Given the description of an element on the screen output the (x, y) to click on. 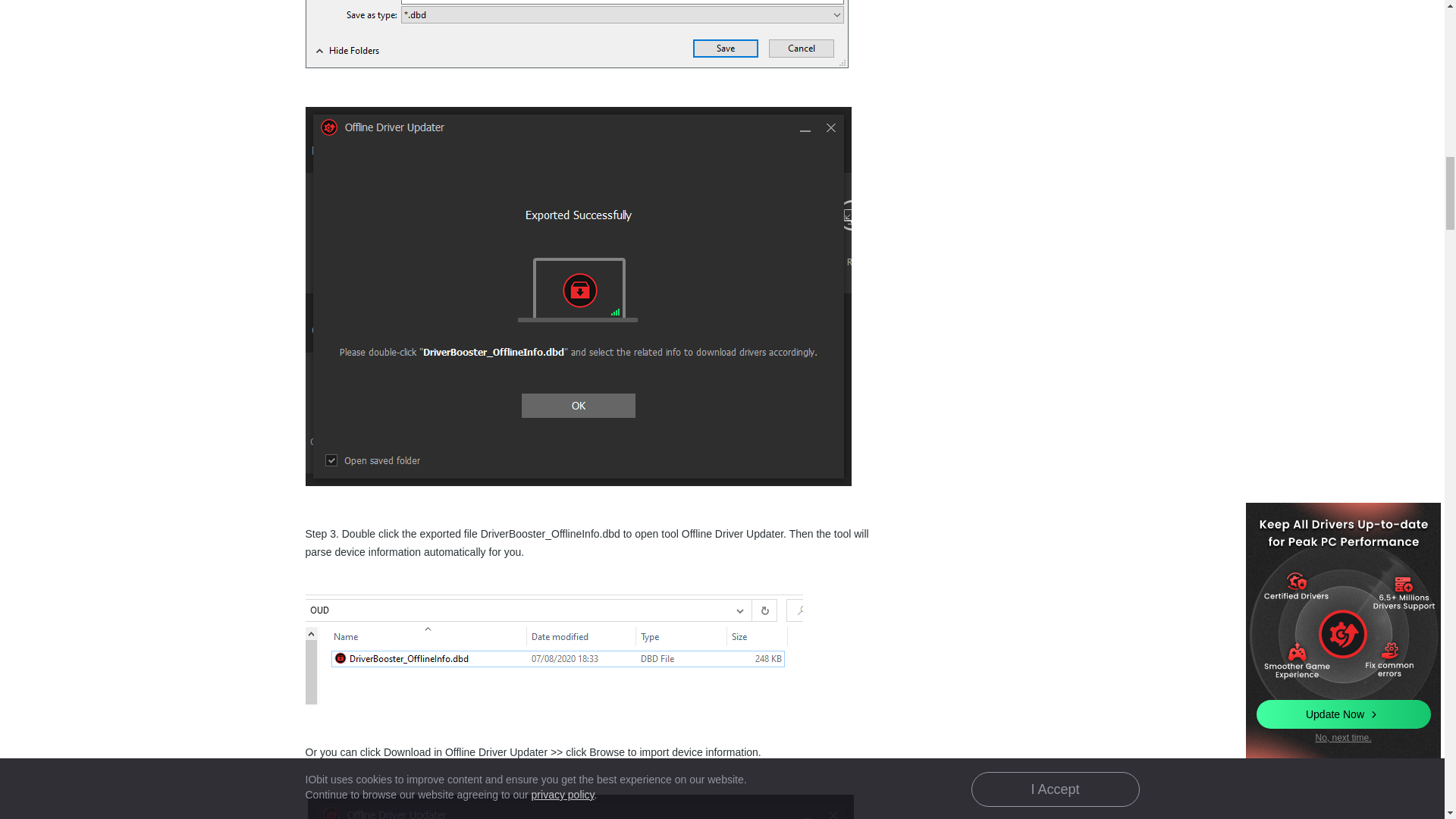
1594621483655286.png (575, 33)
1594621553567091.png (553, 649)
1599727209589232.png (580, 806)
